Given the description of an element on the screen output the (x, y) to click on. 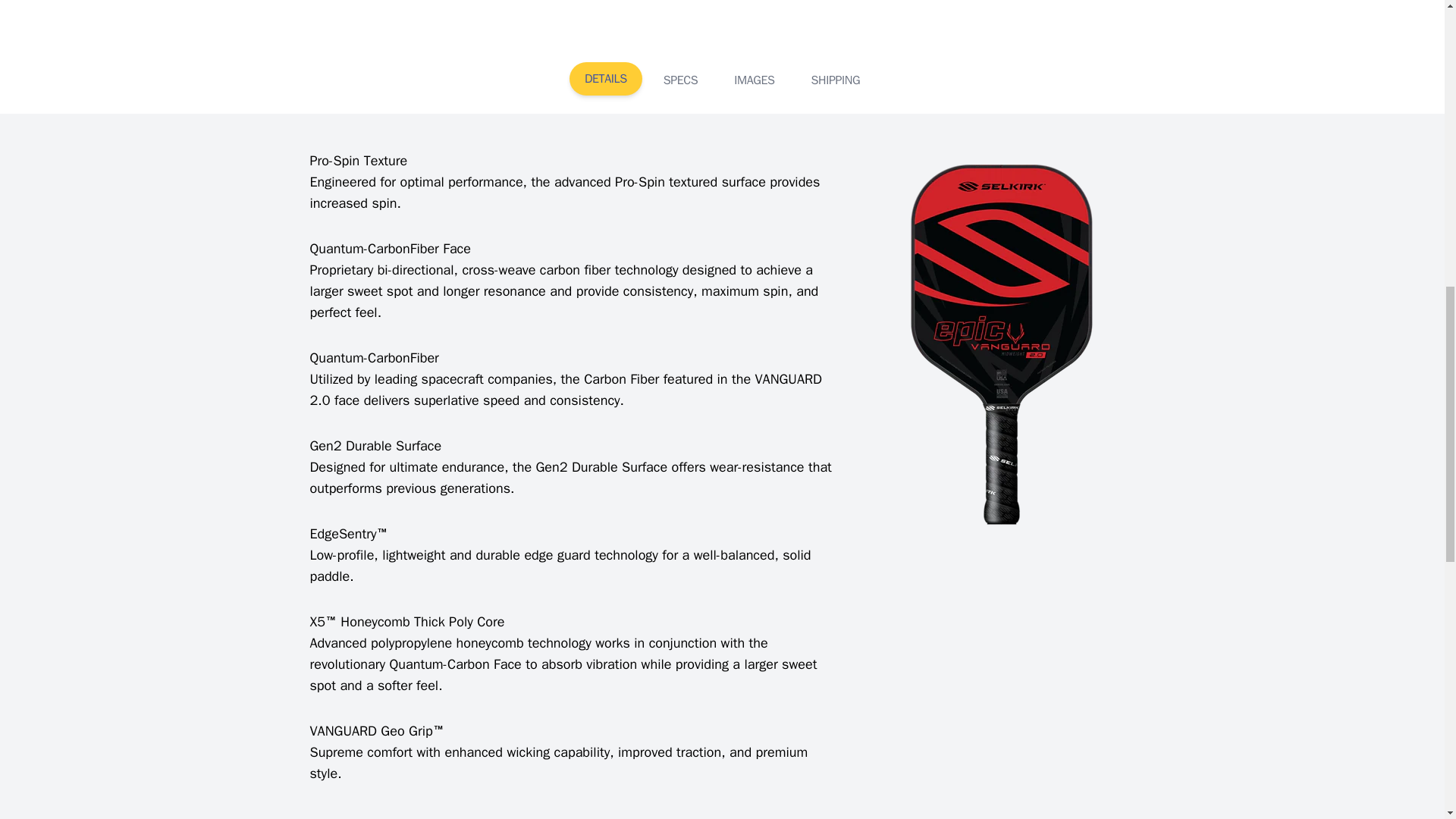
SHIPPING (836, 80)
SPECS (680, 80)
IMAGES (754, 80)
DETAILS (605, 78)
